Given the description of an element on the screen output the (x, y) to click on. 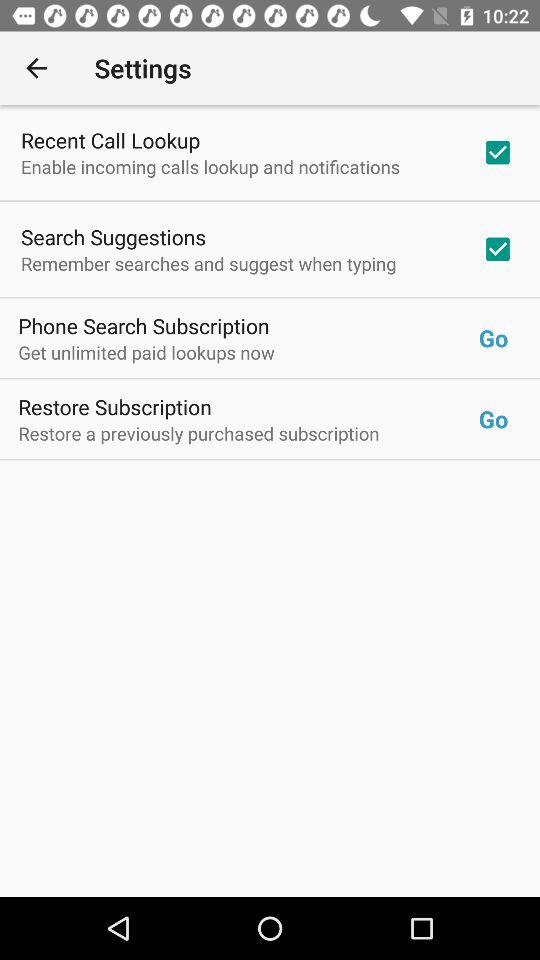
select item above the search suggestions (210, 166)
